Given the description of an element on the screen output the (x, y) to click on. 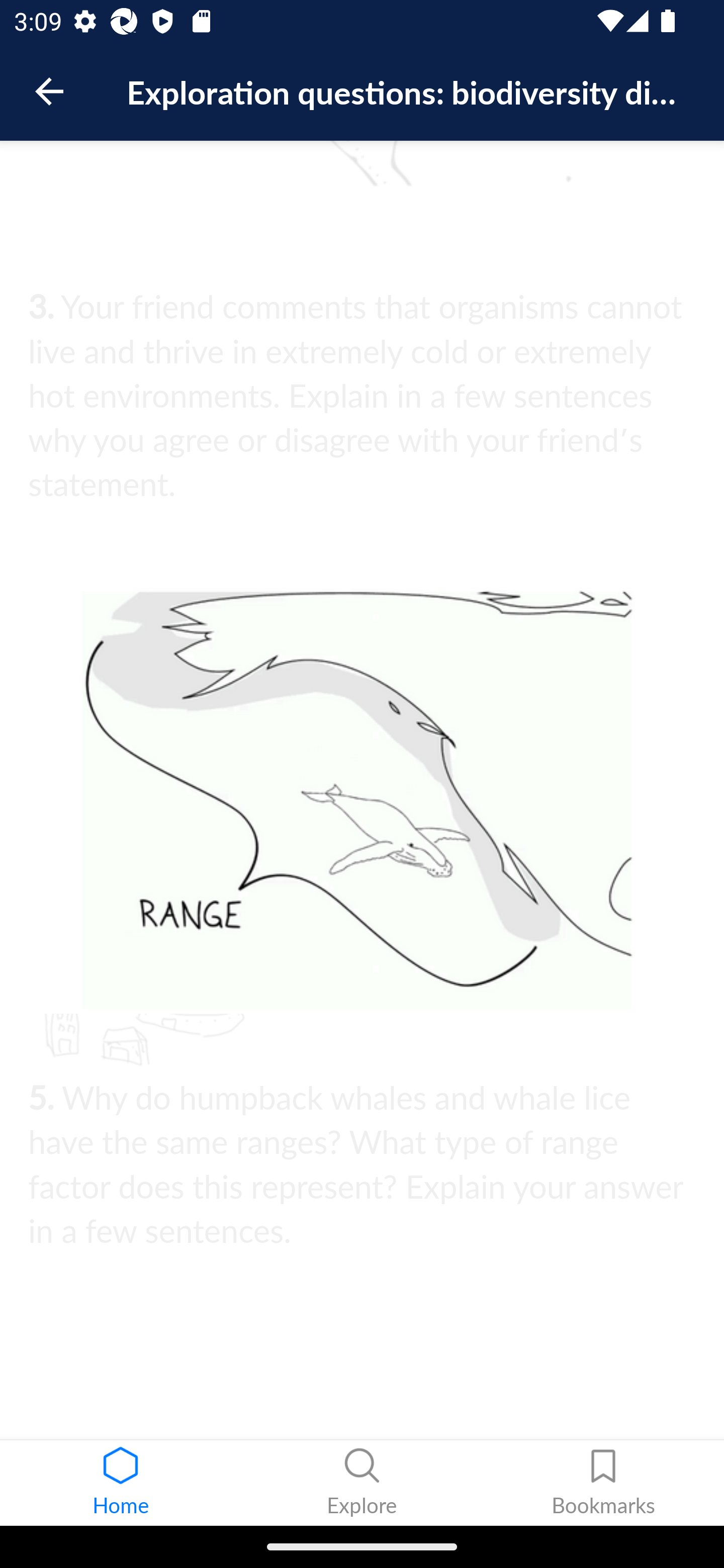
Navigate up (49, 91)
Home (120, 1482)
Explore (361, 1482)
Bookmarks (603, 1482)
